Given the description of an element on the screen output the (x, y) to click on. 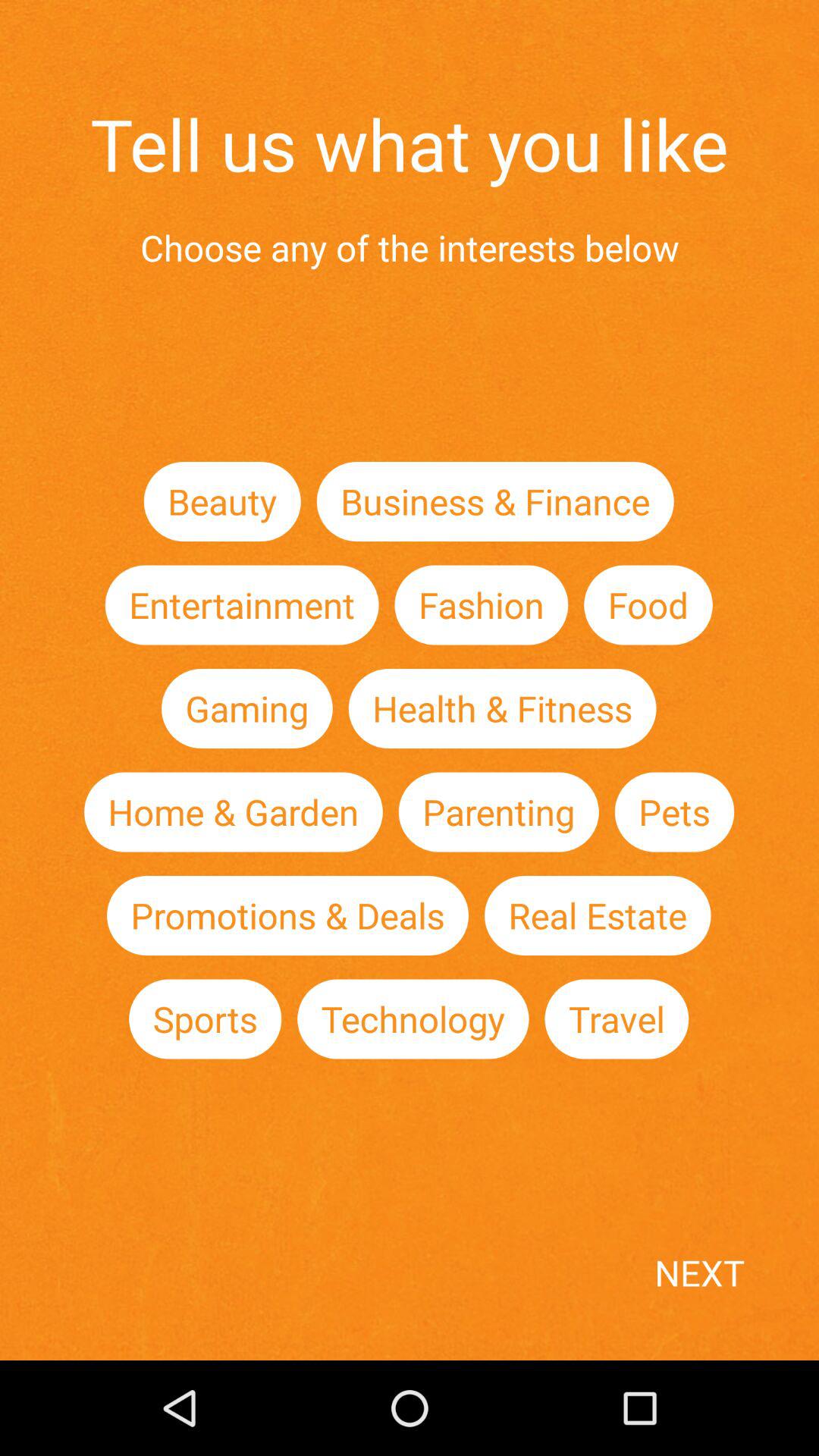
press sports (205, 1019)
